Given the description of an element on the screen output the (x, y) to click on. 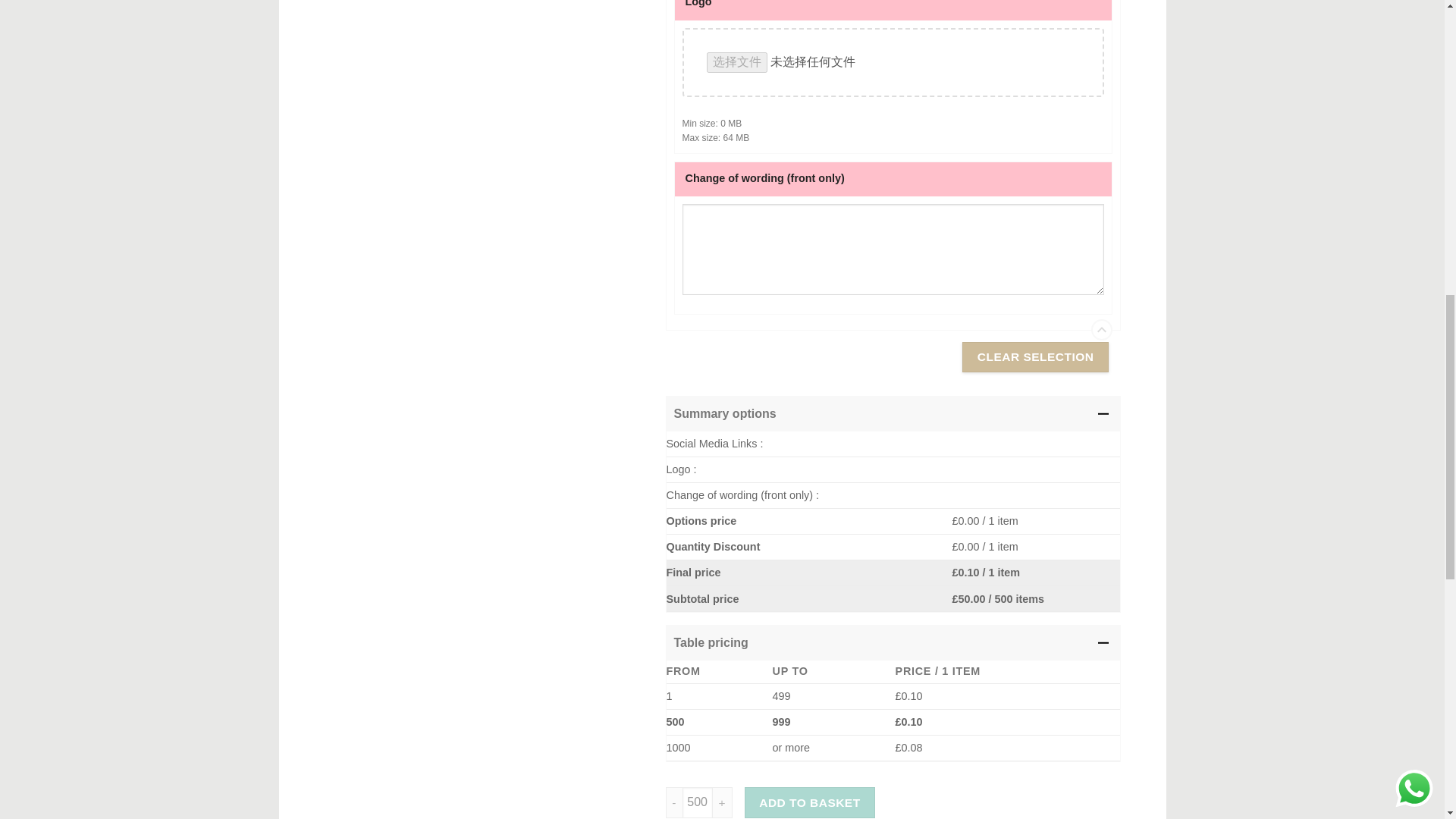
500 (697, 802)
